Given the description of an element on the screen output the (x, y) to click on. 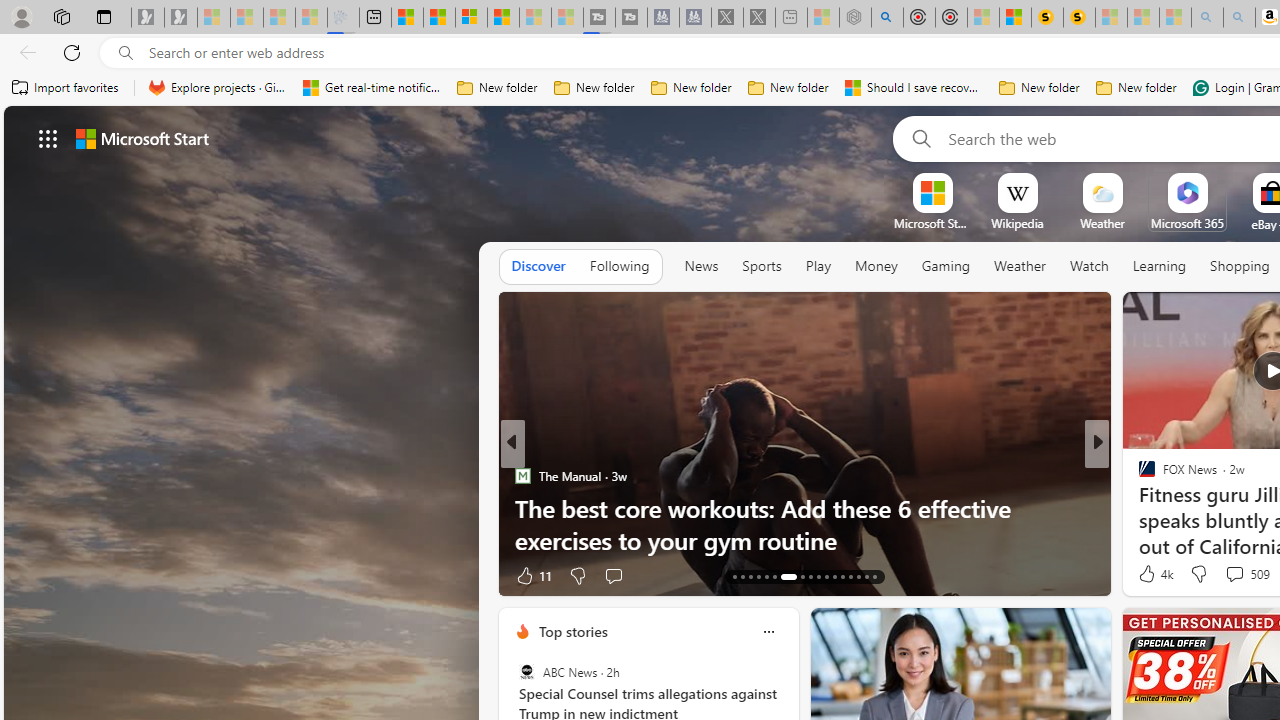
Chip Chick (522, 475)
AutomationID: tab-27 (857, 576)
Money (875, 265)
Gaming (945, 265)
Microsoft Start - Sleeping (535, 17)
Sports (761, 267)
Like (1140, 574)
